Given the description of an element on the screen output the (x, y) to click on. 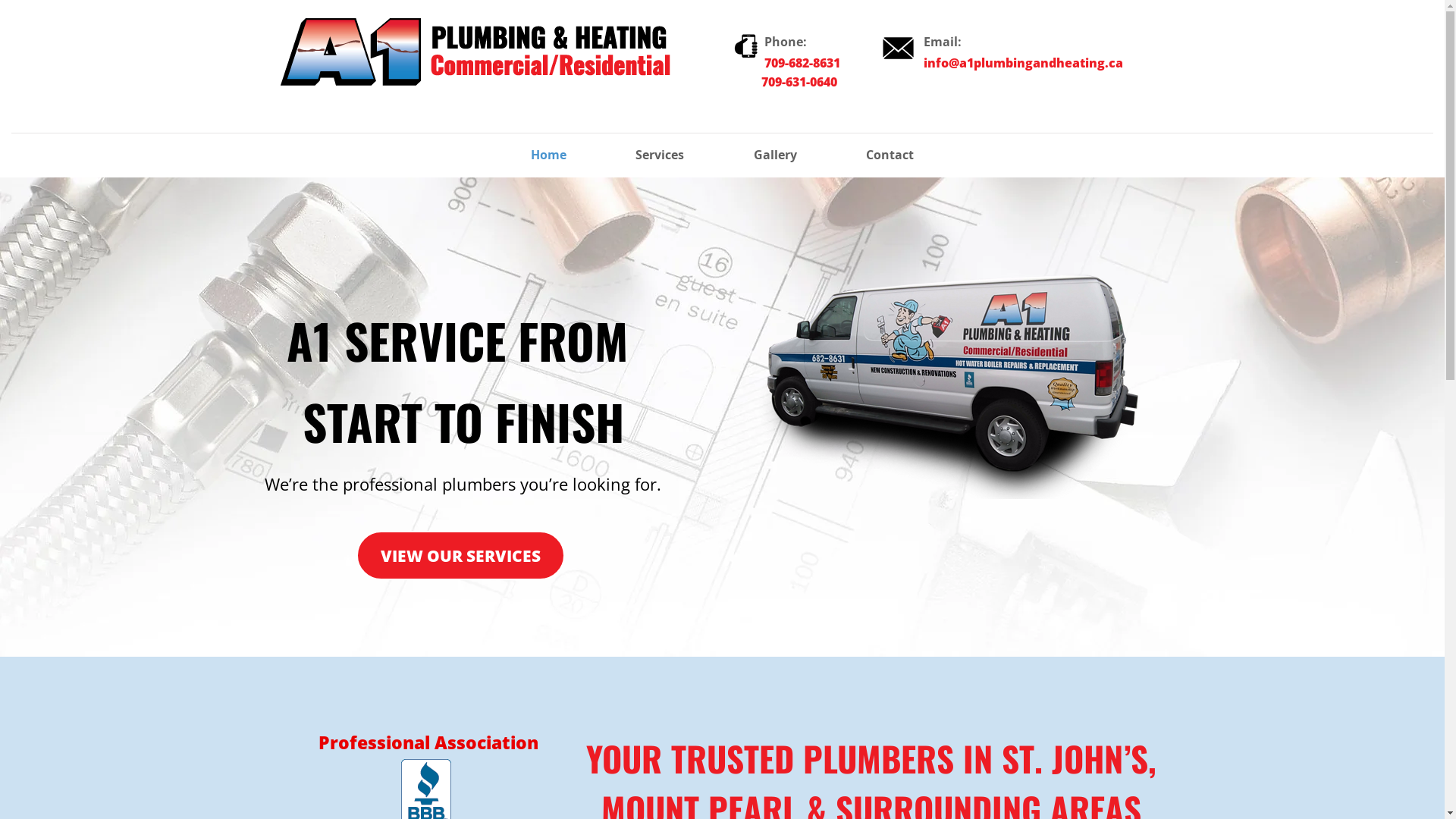
Contact Element type: text (889, 154)
Gallery Element type: text (774, 154)
info@a1plumbingandheating.ca Element type: text (1023, 64)
709-682-8631 Element type: text (802, 62)
VIEW OUR SERVICES Element type: text (460, 555)
           709-631-0640 Element type: text (782, 83)
Home Element type: text (548, 154)
Services Element type: text (660, 154)
